Given the description of an element on the screen output the (x, y) to click on. 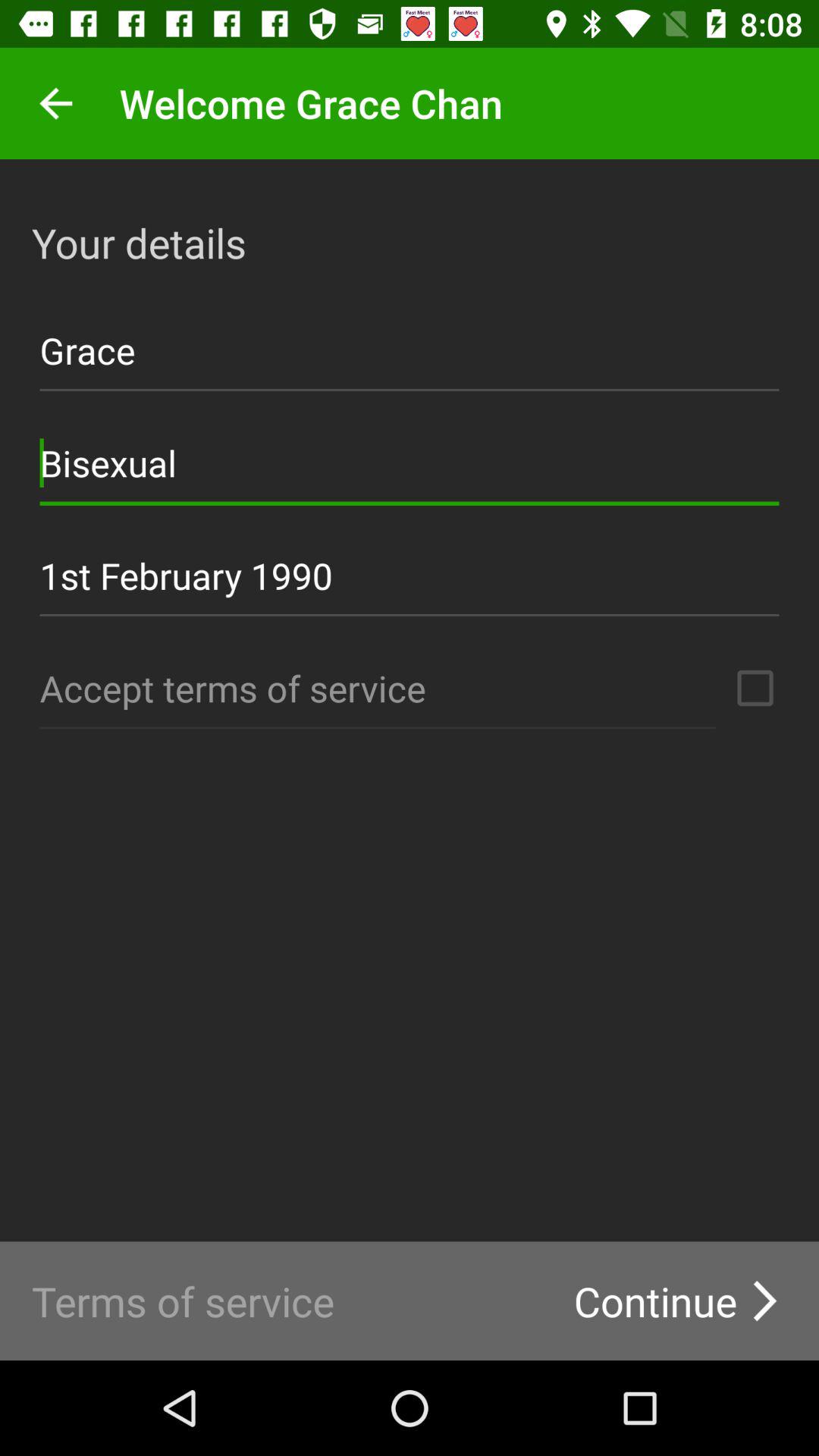
go back (55, 103)
